Given the description of an element on the screen output the (x, y) to click on. 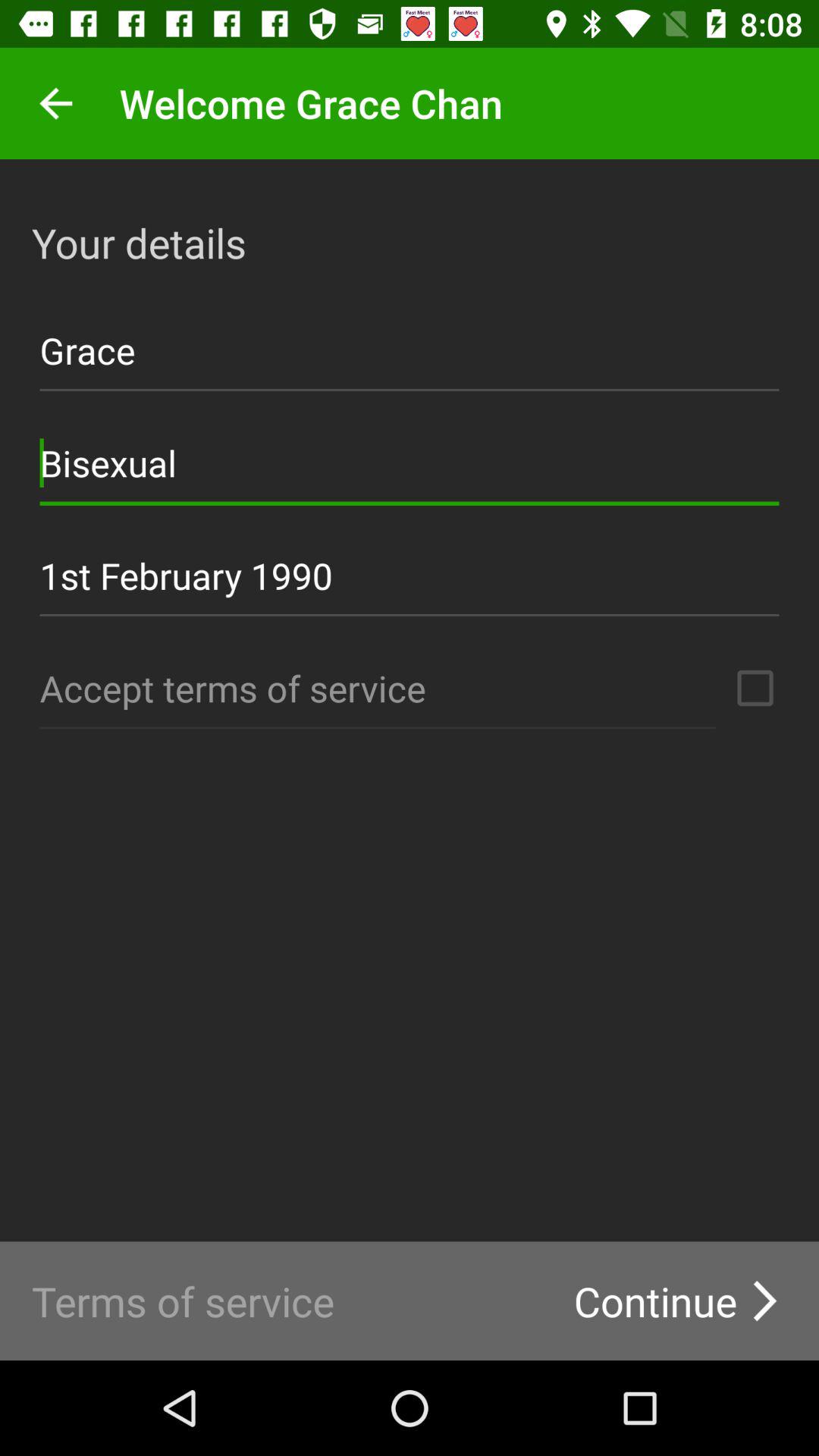
go back (55, 103)
